Given the description of an element on the screen output the (x, y) to click on. 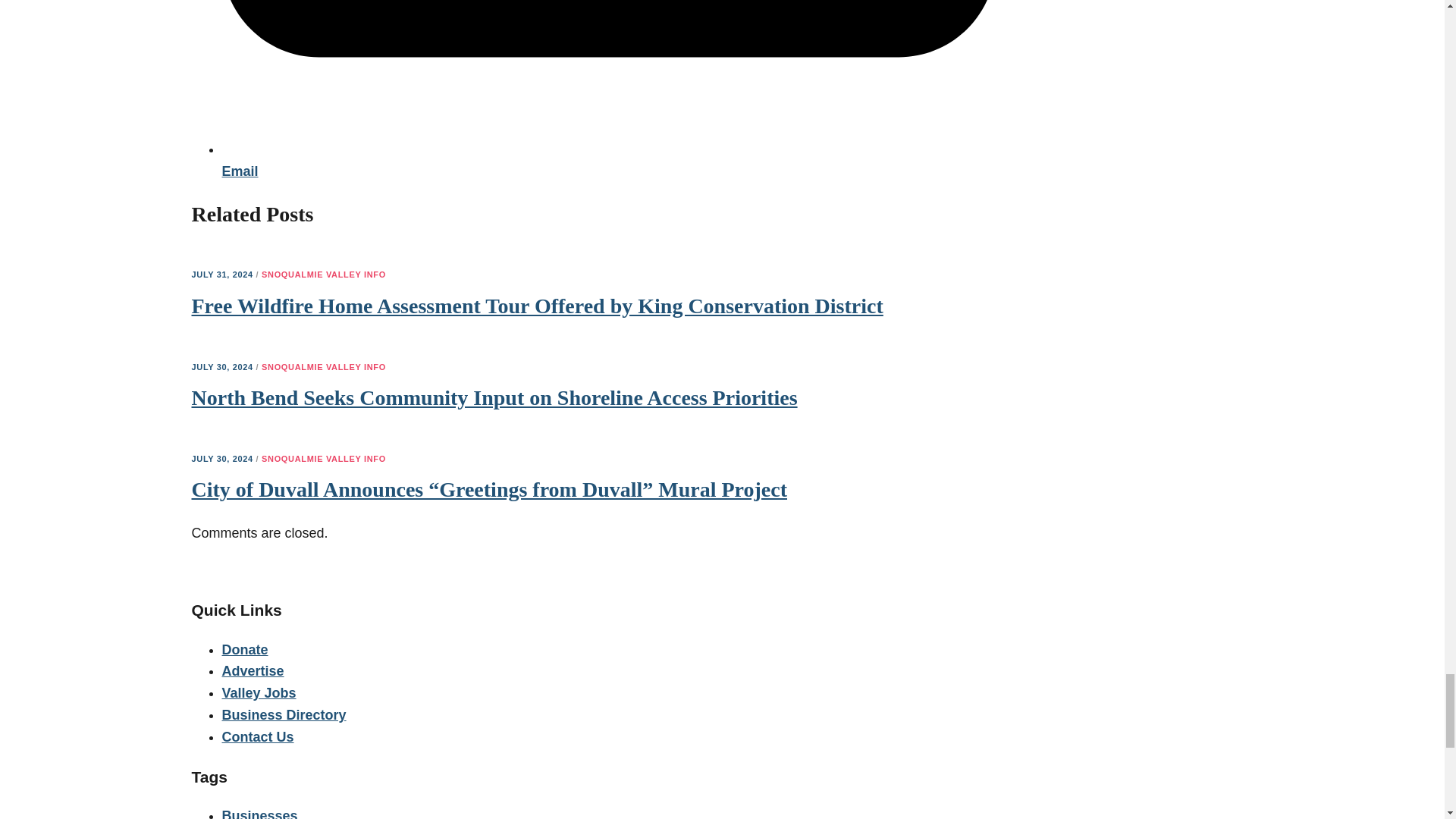
Email (607, 160)
